Given the description of an element on the screen output the (x, y) to click on. 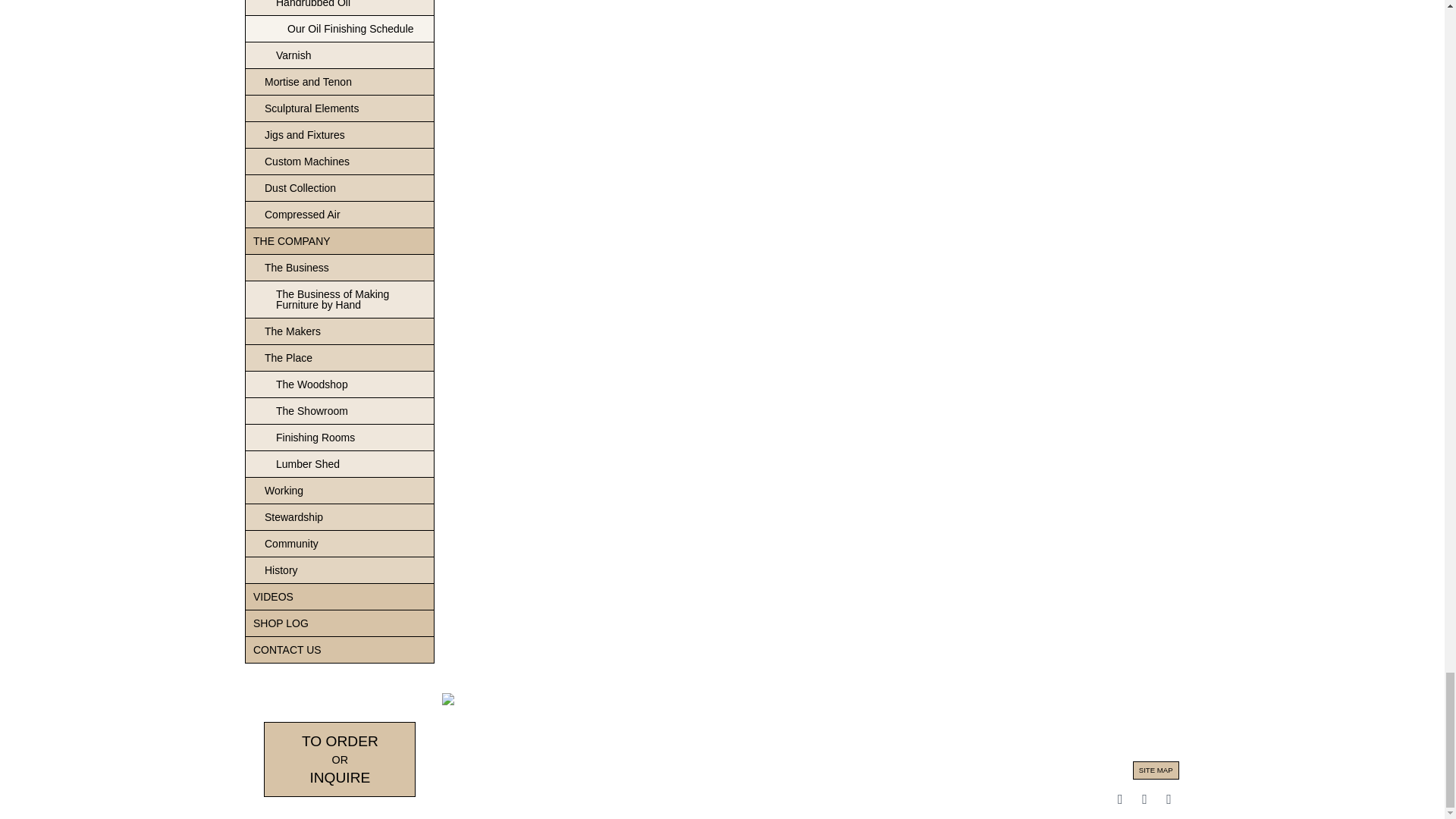
follow with us on instagram (1167, 799)
connect with us on facebook (1119, 799)
follow with us on pinterest (1144, 799)
